Given the description of an element on the screen output the (x, y) to click on. 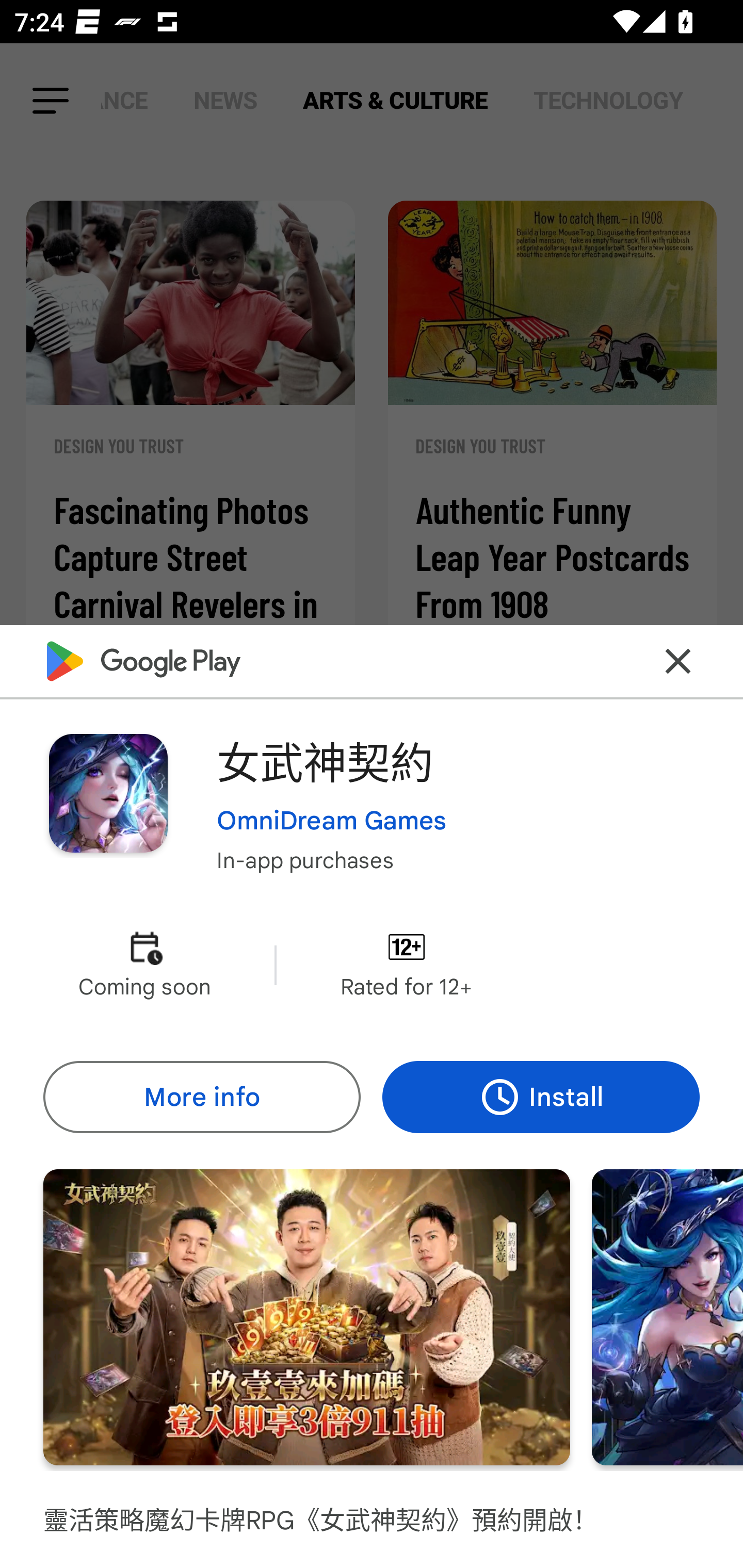
Close (677, 661)
Image of app or game icon for 女武神契約 (108, 792)
OmniDream Games (331, 820)
More info (201, 1097)
Install (540, 1097)
Screenshot "1" of "5" (306, 1317)
